Given the description of an element on the screen output the (x, y) to click on. 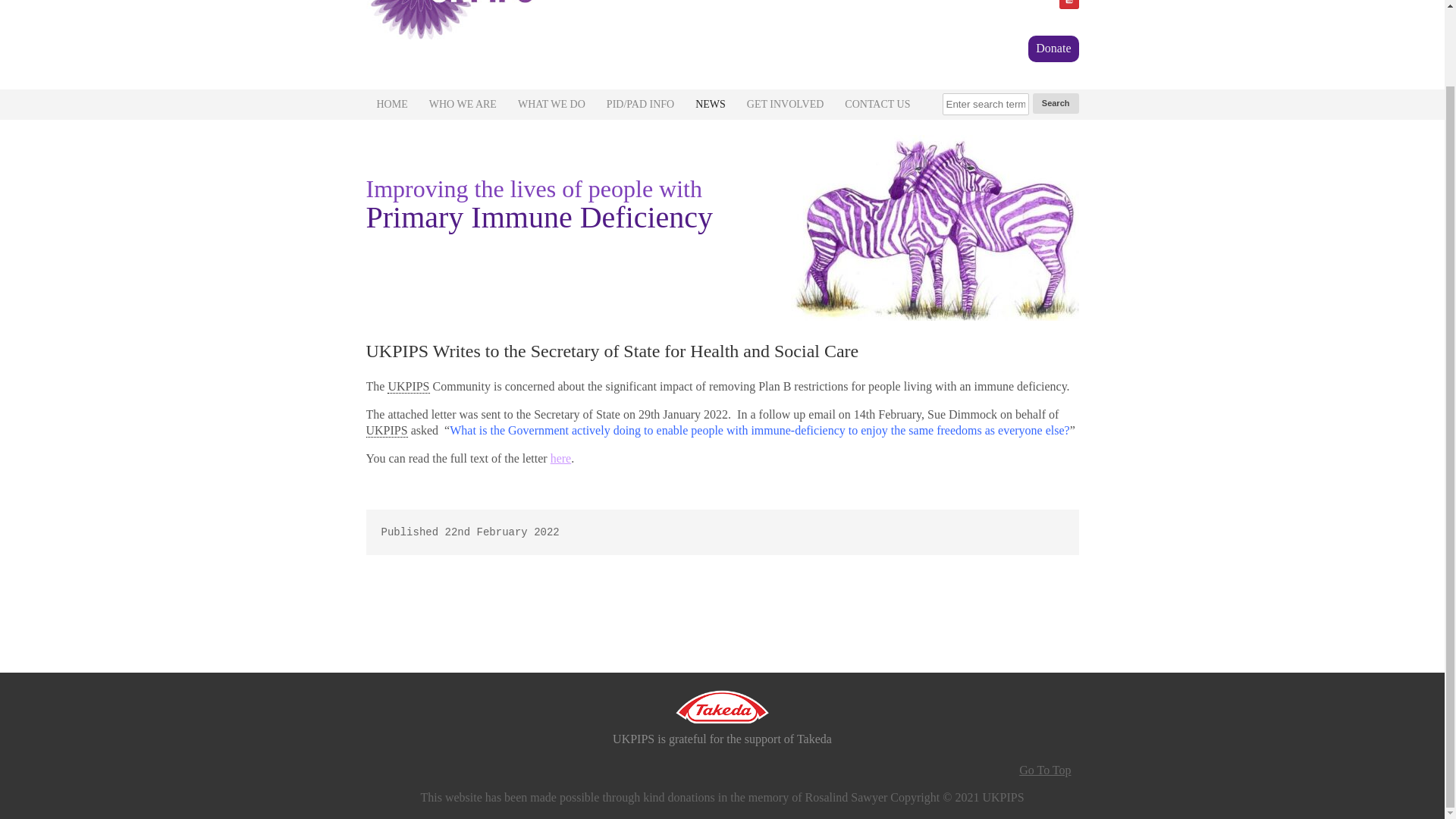
Search (1055, 103)
WHAT WE DO (550, 104)
Search (1055, 103)
HOME (391, 104)
CONTACT US (877, 104)
GET INVOLVED (785, 104)
YouTube (1068, 4)
Go To Top (1044, 770)
NEWS (710, 104)
Donate (1052, 49)
here (561, 458)
WHO WE ARE (462, 104)
